Given the description of an element on the screen output the (x, y) to click on. 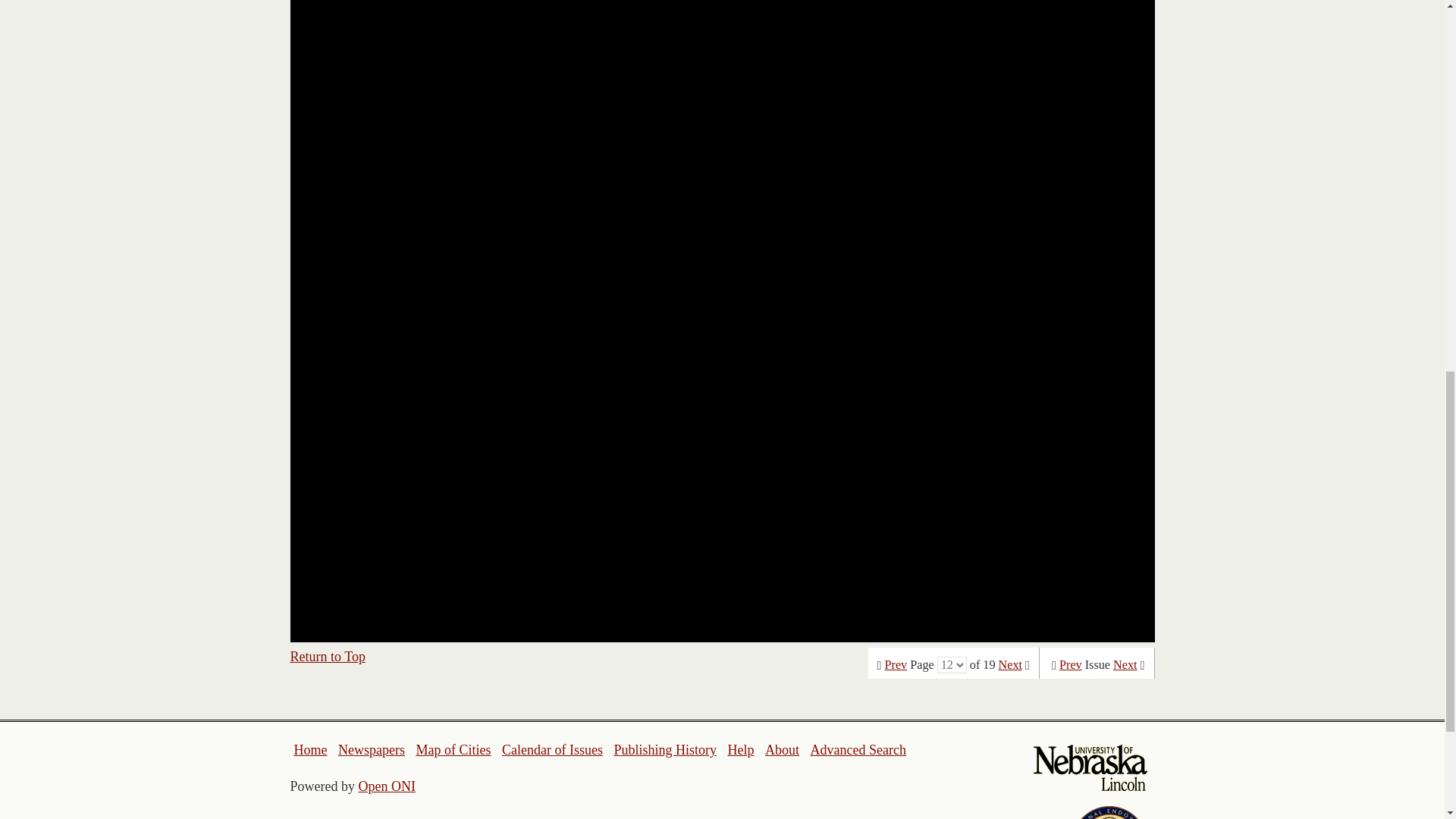
Prev (1070, 664)
Home (310, 749)
Calendar of Issues (552, 749)
Return to Top (327, 656)
Publishing History (664, 749)
About (782, 749)
Open ONI (386, 785)
Map of Cities (452, 749)
Next (1010, 664)
Newspapers (370, 749)
Prev (896, 664)
Help (740, 749)
Next (1125, 664)
Advanced Search (857, 749)
